Given the description of an element on the screen output the (x, y) to click on. 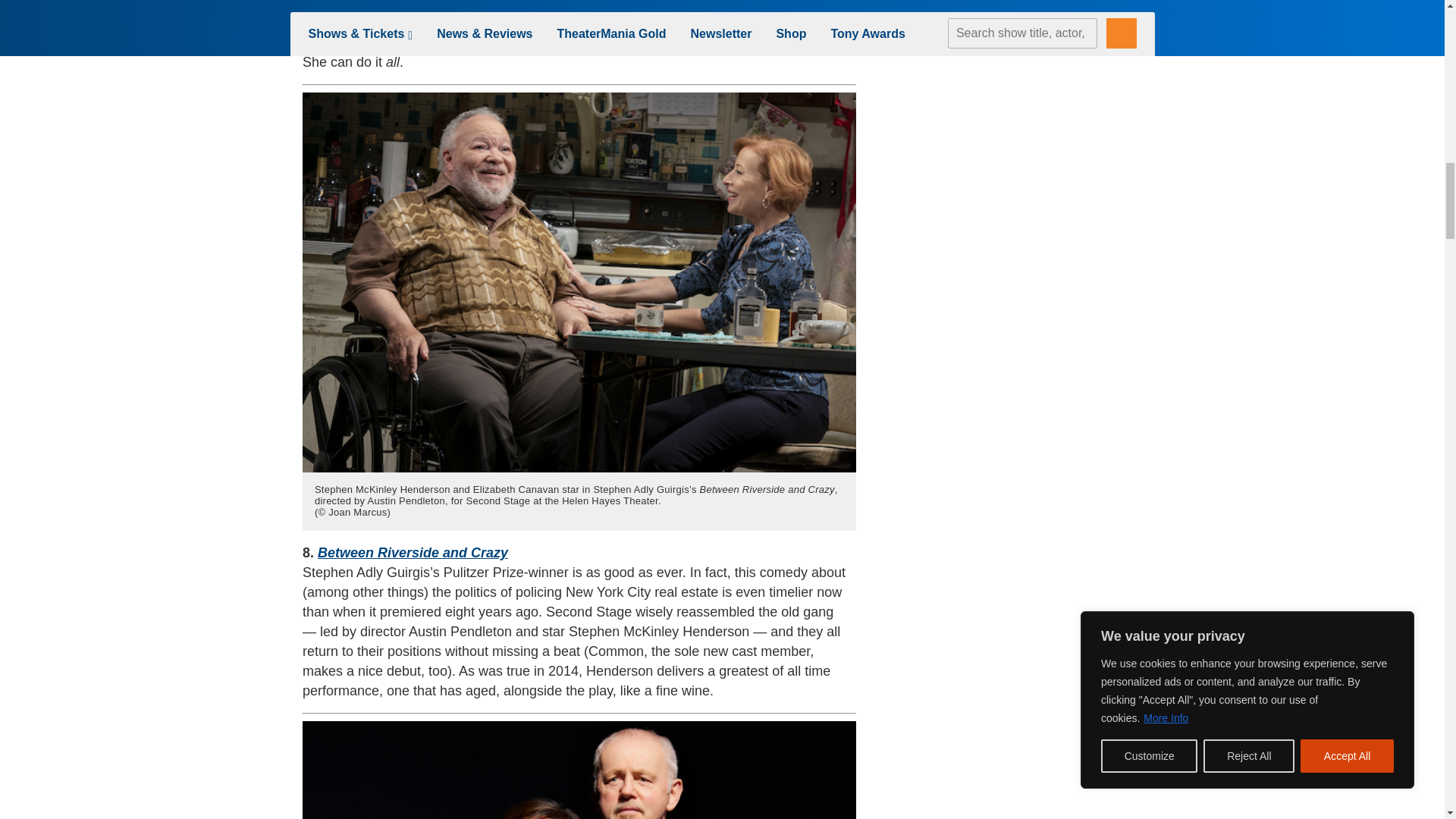
Mary-Louise Parker and David Morse in How I Learned to Drive (579, 770)
